Given the description of an element on the screen output the (x, y) to click on. 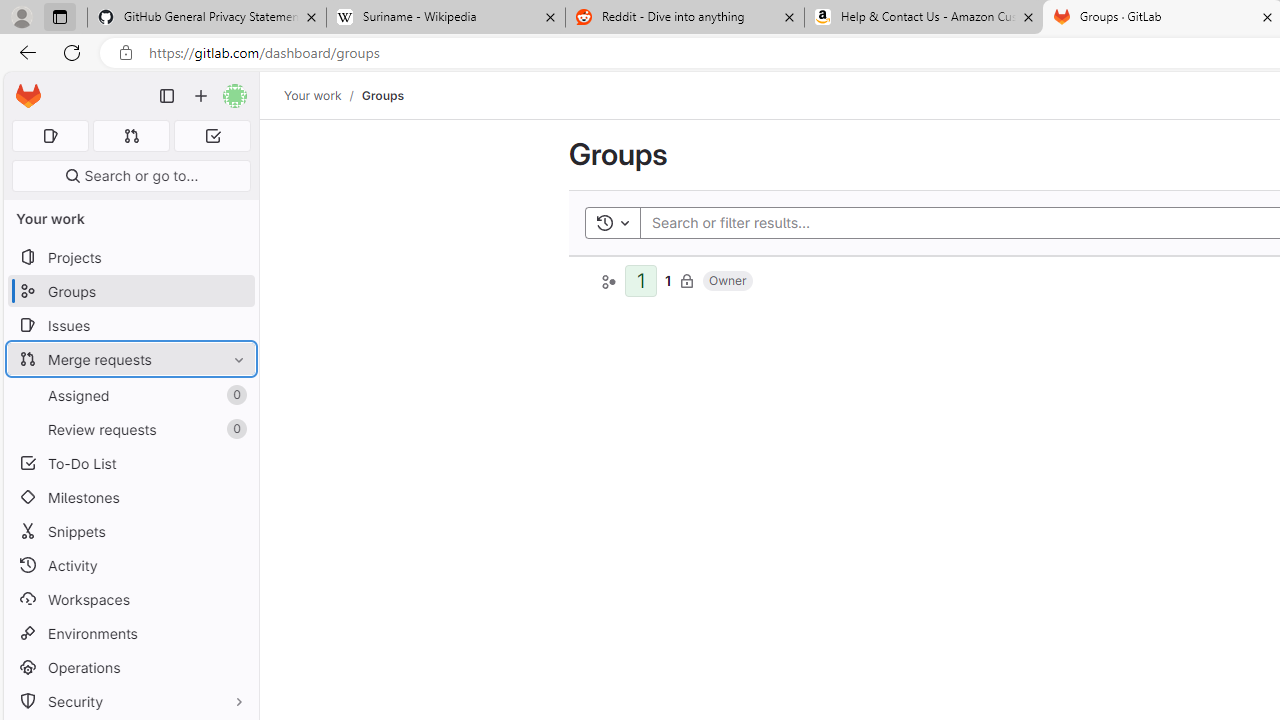
Assigned issues 0 (50, 136)
Projects (130, 257)
Merge requests 0 (131, 136)
Environments (130, 633)
